Given the description of an element on the screen output the (x, y) to click on. 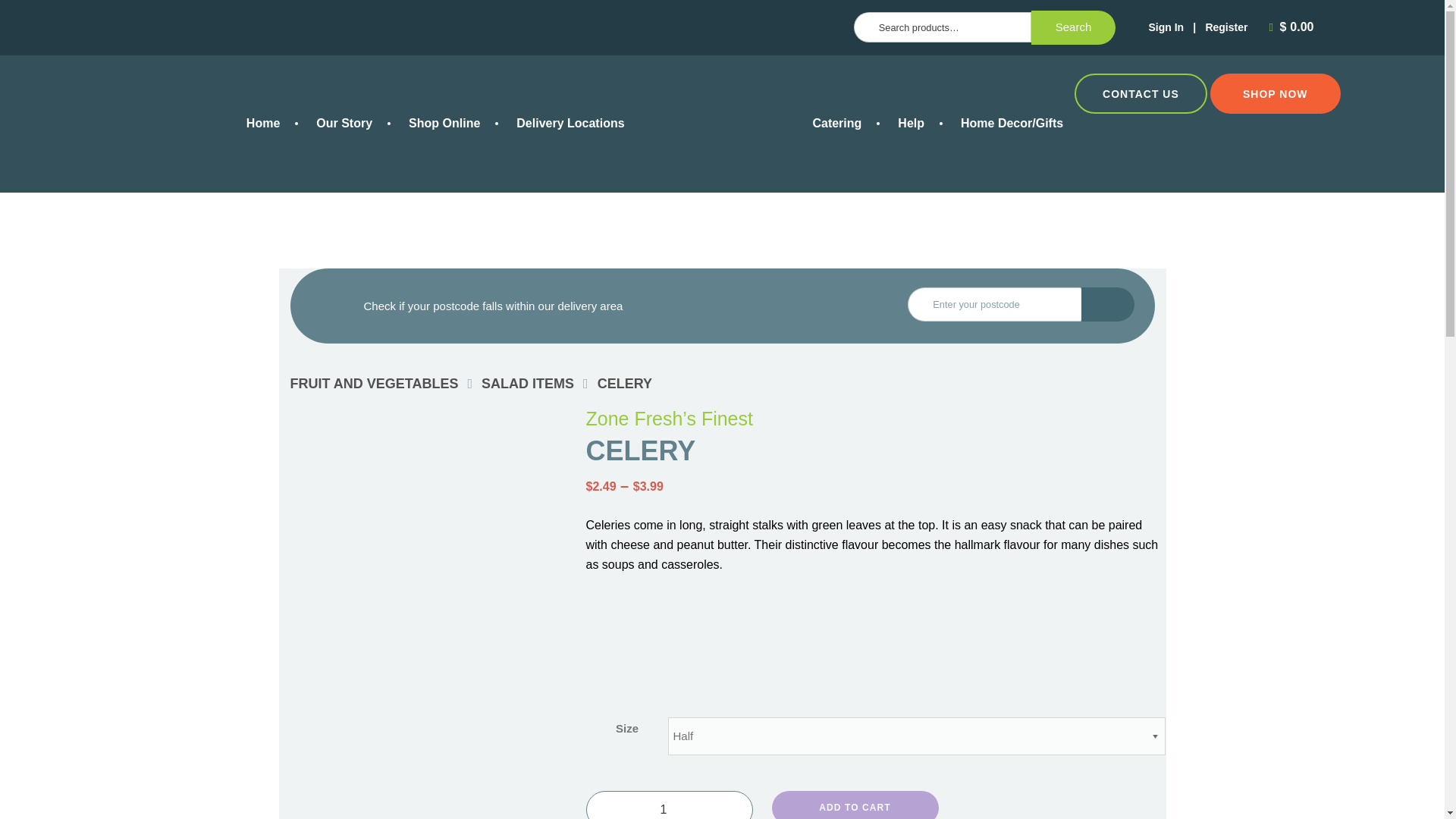
Home (263, 123)
CONTACT US (1140, 92)
FRUIT AND VEGETABLES (373, 383)
Delivery Locations (569, 123)
Help (910, 123)
SHOP NOW (1274, 92)
SALAD ITEMS (527, 383)
Shop Online (443, 123)
ADD TO CART (855, 805)
View your shopping cart (1293, 26)
Search (1073, 27)
1 (668, 805)
Register (1226, 27)
Sign In (1165, 27)
Catering (836, 123)
